Given the description of an element on the screen output the (x, y) to click on. 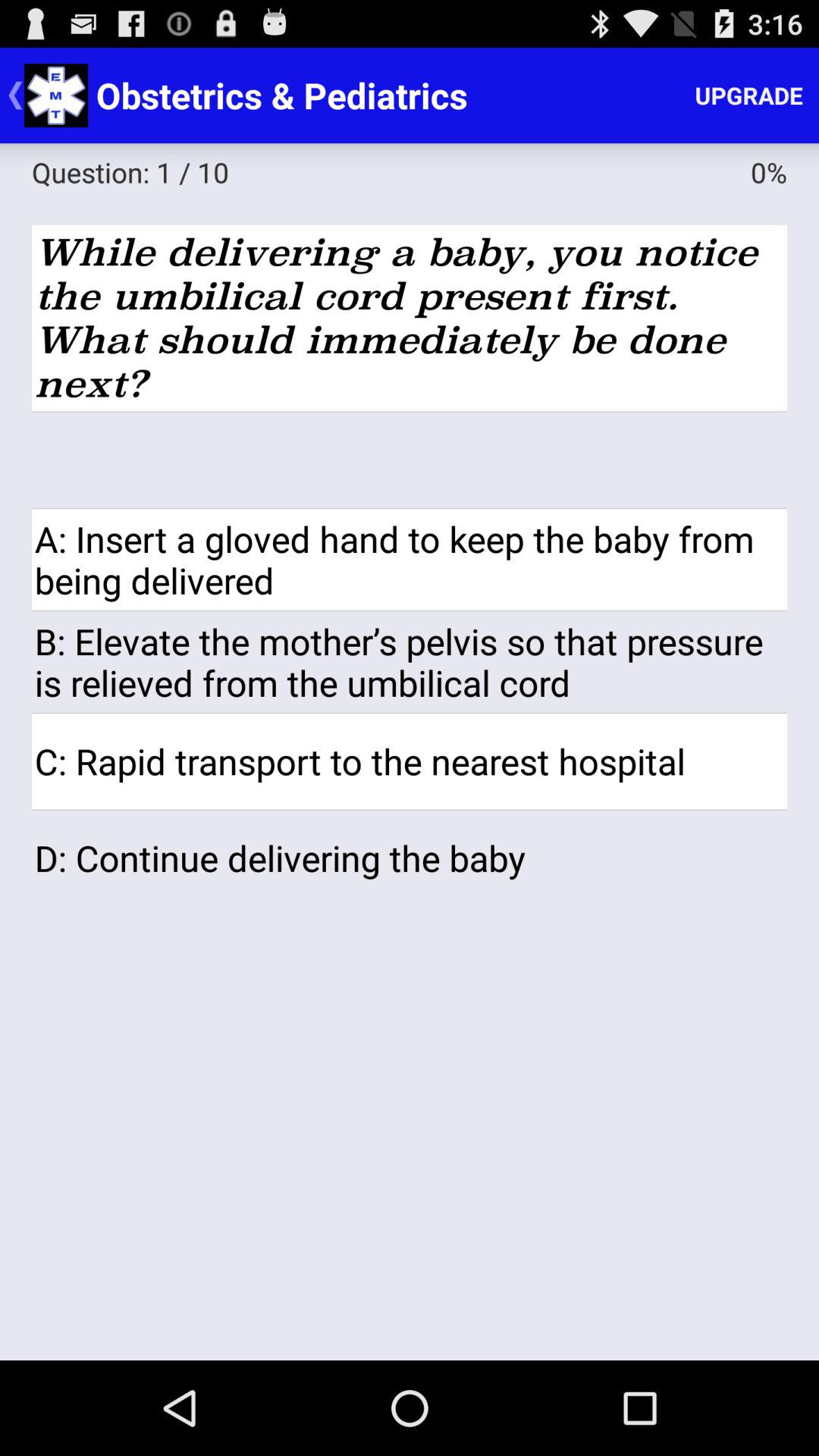
choose the while delivering a (409, 318)
